Given the description of an element on the screen output the (x, y) to click on. 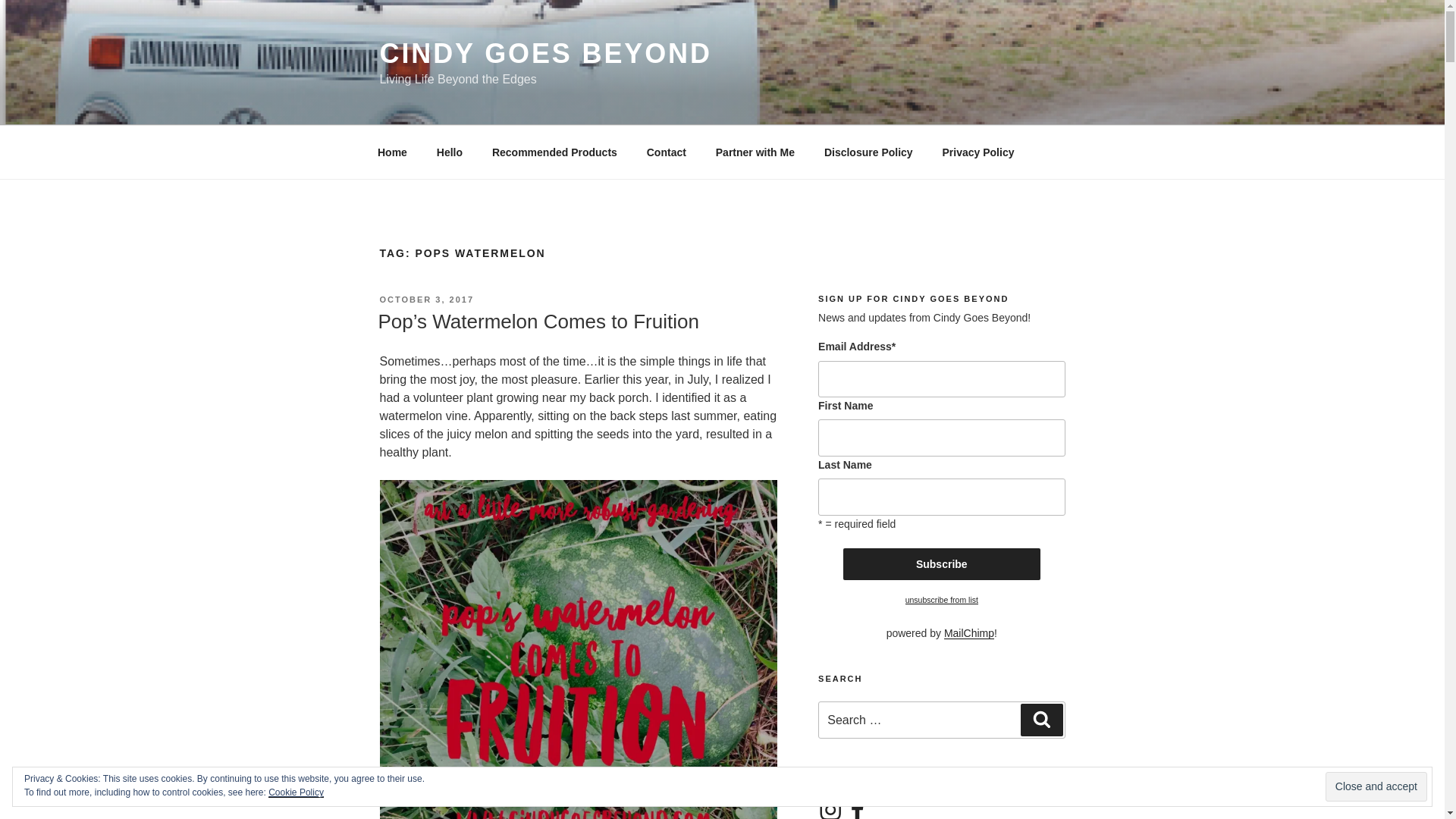
Search (1041, 719)
Home (392, 151)
Contact (665, 151)
Subscribe (942, 563)
MailChimp (968, 633)
Subscribe (942, 563)
Close and accept (1375, 786)
Partner with Me (754, 151)
CINDY GOES BEYOND (544, 52)
Hello (449, 151)
